Given the description of an element on the screen output the (x, y) to click on. 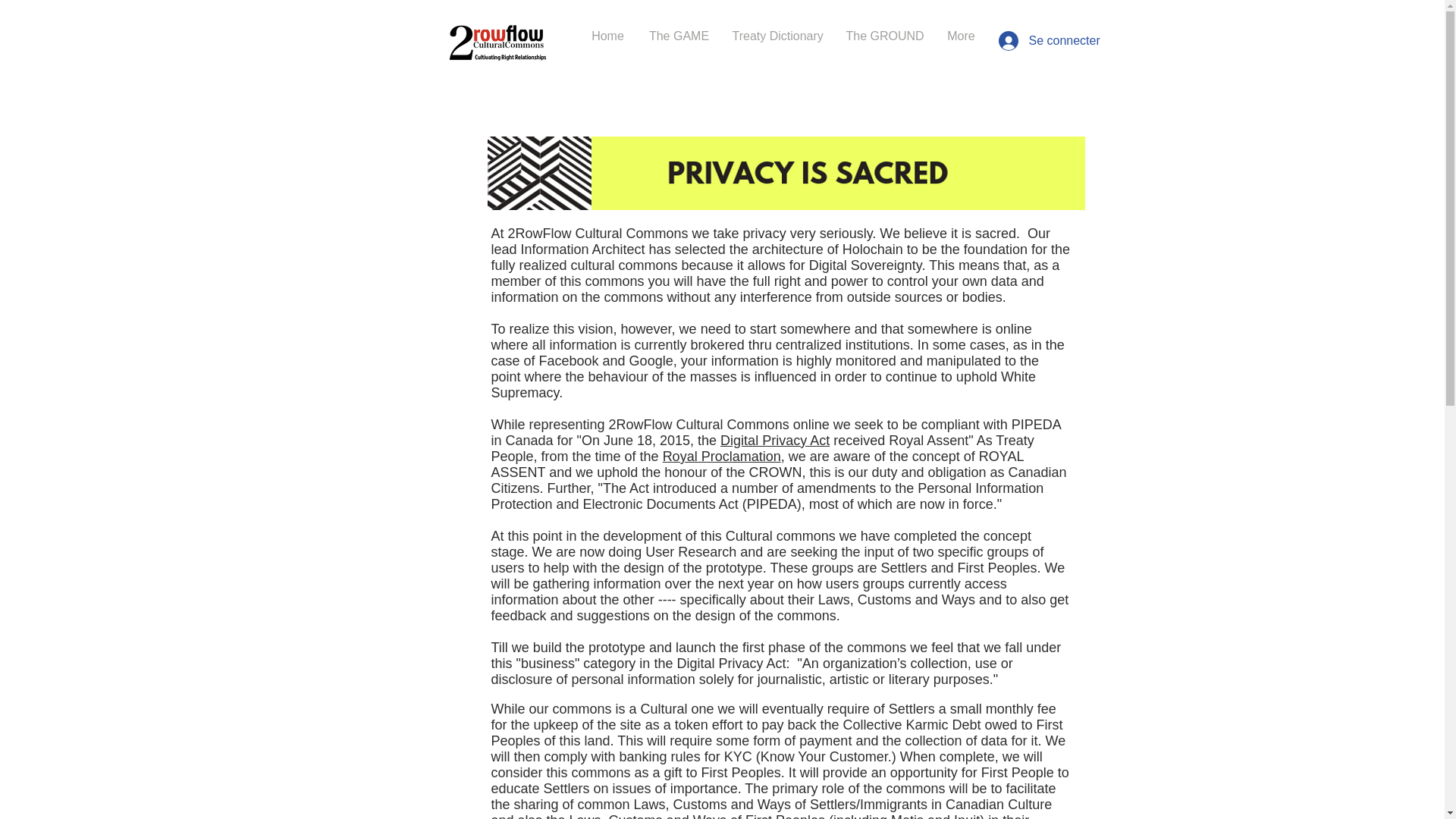
Home (607, 35)
Treaty Dictionary (777, 35)
The GAME (678, 35)
Royal Proclamation (721, 456)
Se connecter (1032, 40)
Digital Privacy Act (774, 440)
The GROUND (884, 35)
